Given the description of an element on the screen output the (x, y) to click on. 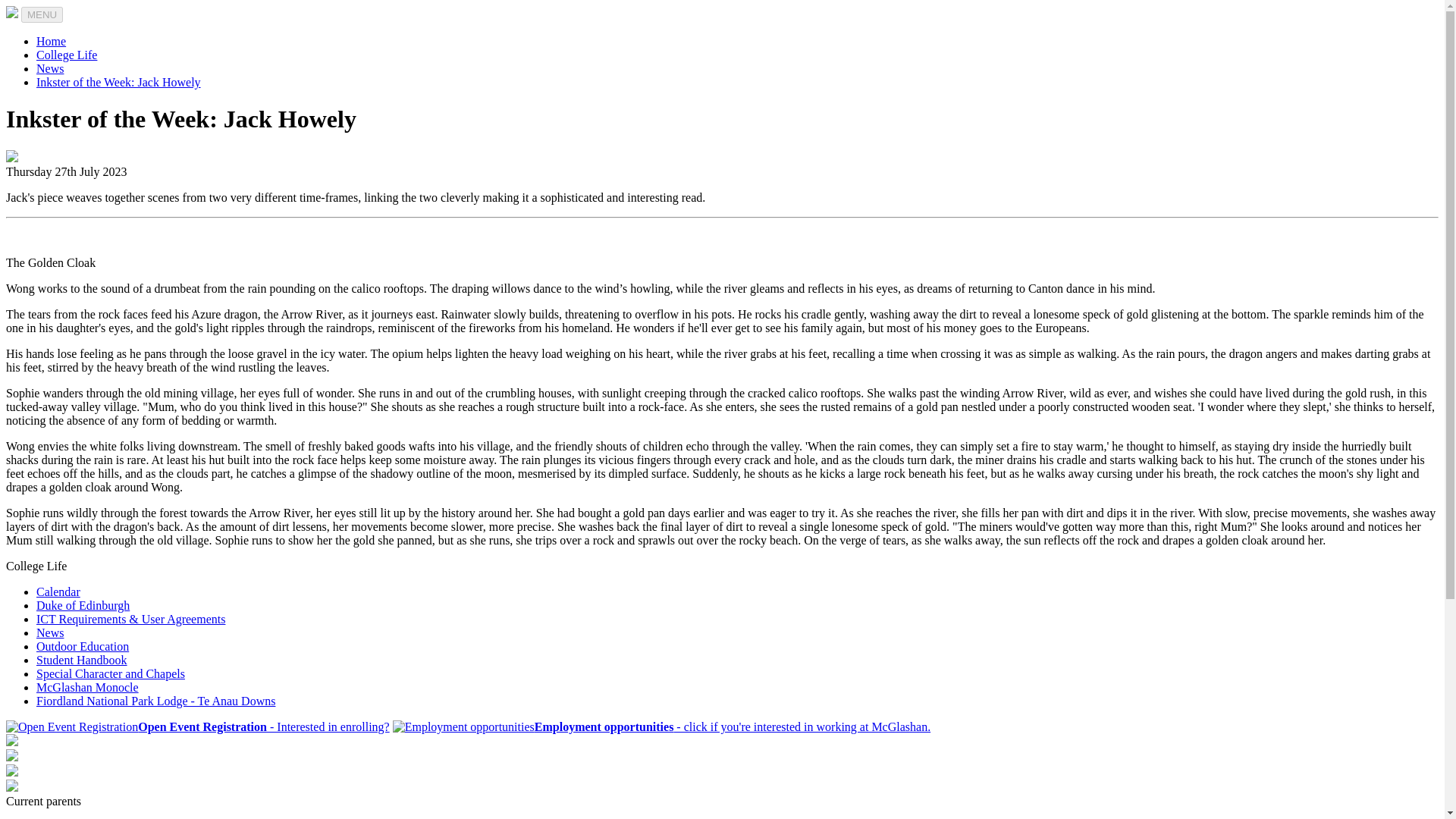
Calendar (58, 591)
Outdoor Education (82, 645)
Inkster of the Week: Jack Howely (118, 82)
College Life (66, 54)
Student Handbook (82, 659)
News (50, 632)
Open Event Registration - Interested in enrolling? (197, 726)
Special Character and Chapels (110, 673)
Fiordland National Park Lodge - Te Anau Downs (155, 700)
Home (50, 41)
